Given the description of an element on the screen output the (x, y) to click on. 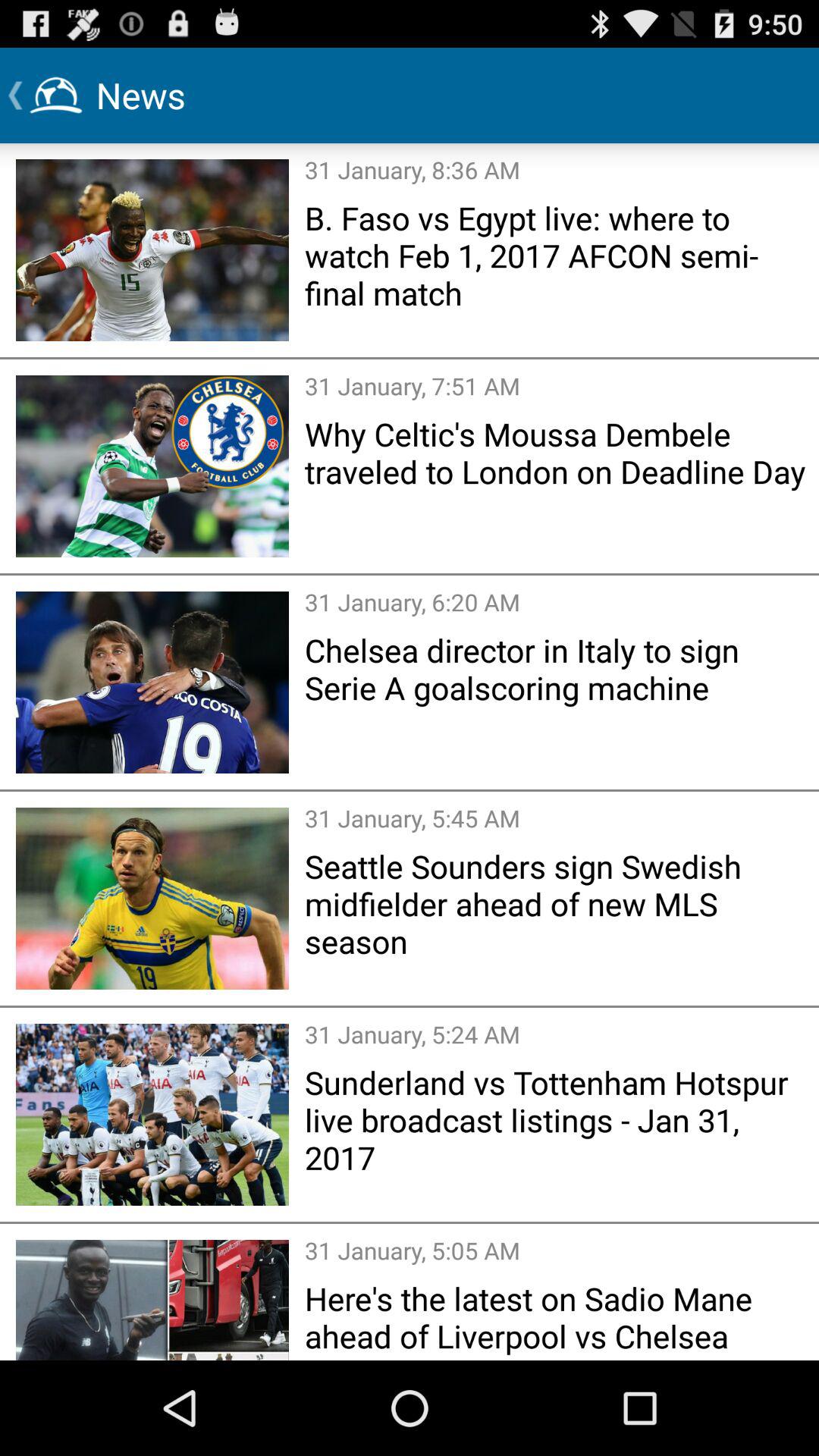
press the item below 31 january 6 item (556, 668)
